Given the description of an element on the screen output the (x, y) to click on. 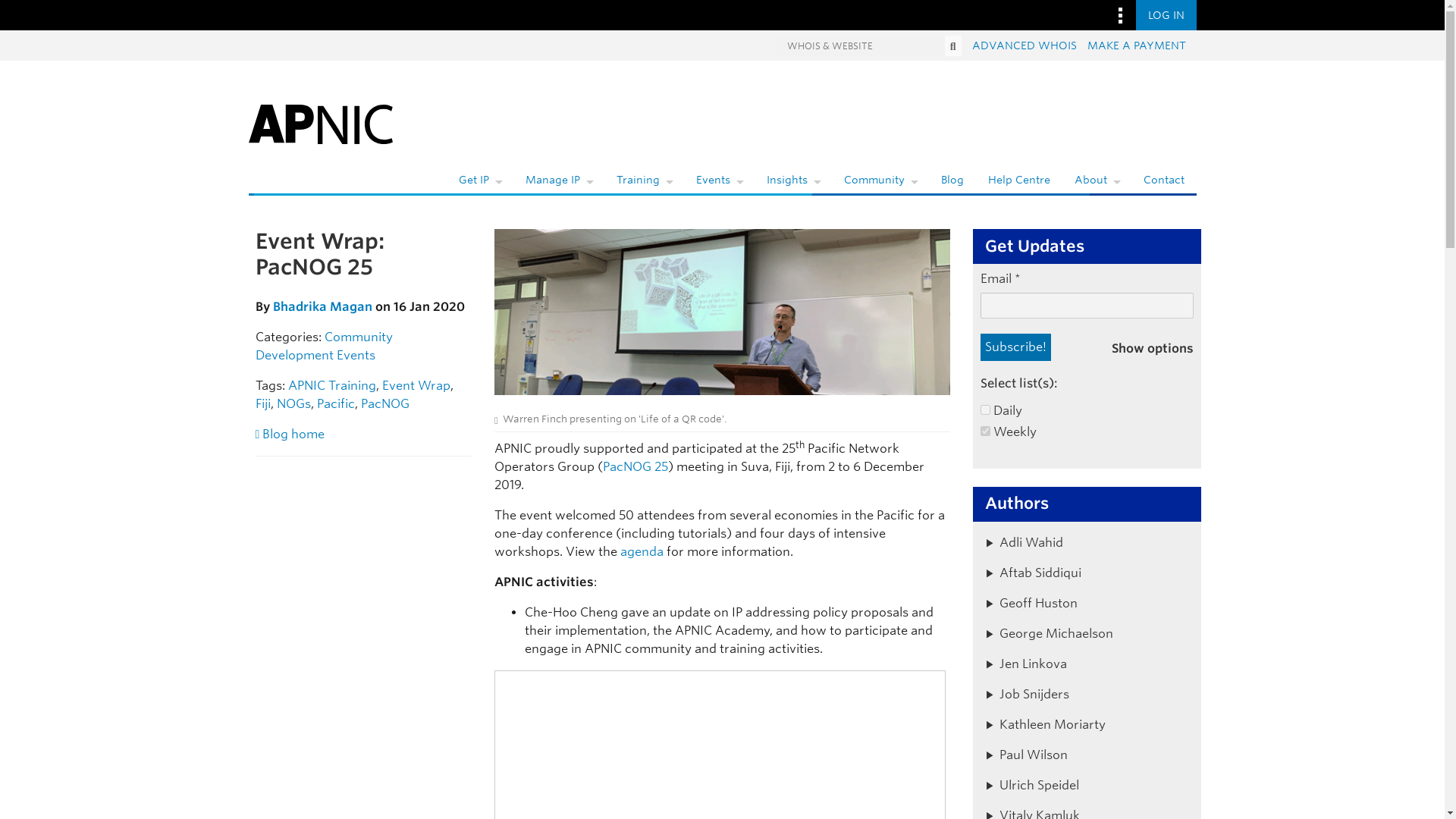
Posts by Bhadrika Magan (322, 306)
LOG IN (1165, 15)
View all posts in Development (293, 355)
Subscribe! (1015, 347)
MAKE A PAYMENT (1136, 45)
3 (984, 430)
ADVANCED WHOIS (1024, 45)
View all posts in Community (358, 336)
4 (984, 409)
Email (1086, 305)
